Given the description of an element on the screen output the (x, y) to click on. 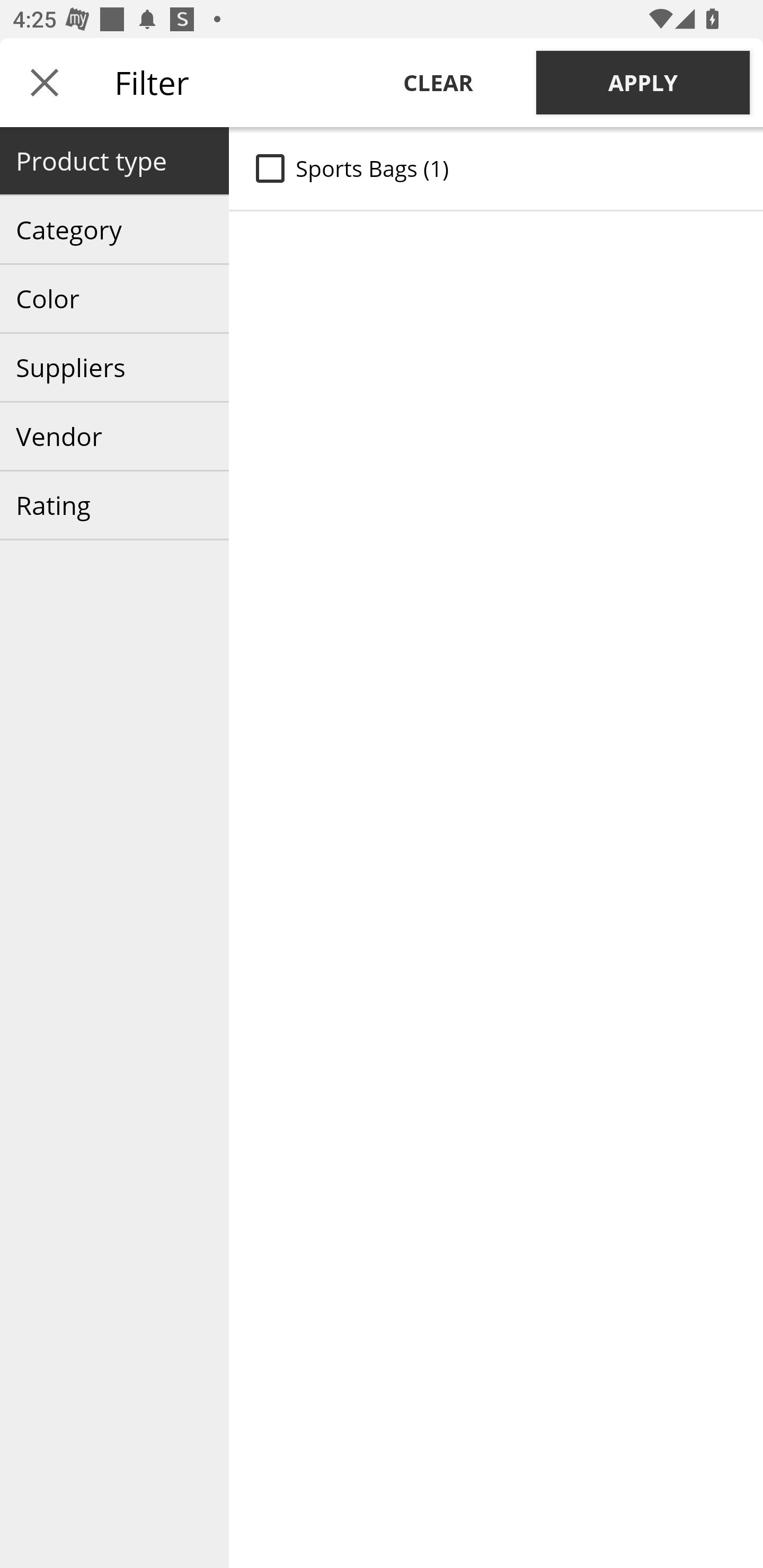
Navigate up (44, 82)
CLEAR (437, 82)
APPLY (643, 82)
Product type (114, 160)
Sports Bags (1) (495, 168)
Category (114, 229)
Color (114, 298)
Suppliers (114, 367)
Vendor (114, 436)
Rating (114, 505)
